Given the description of an element on the screen output the (x, y) to click on. 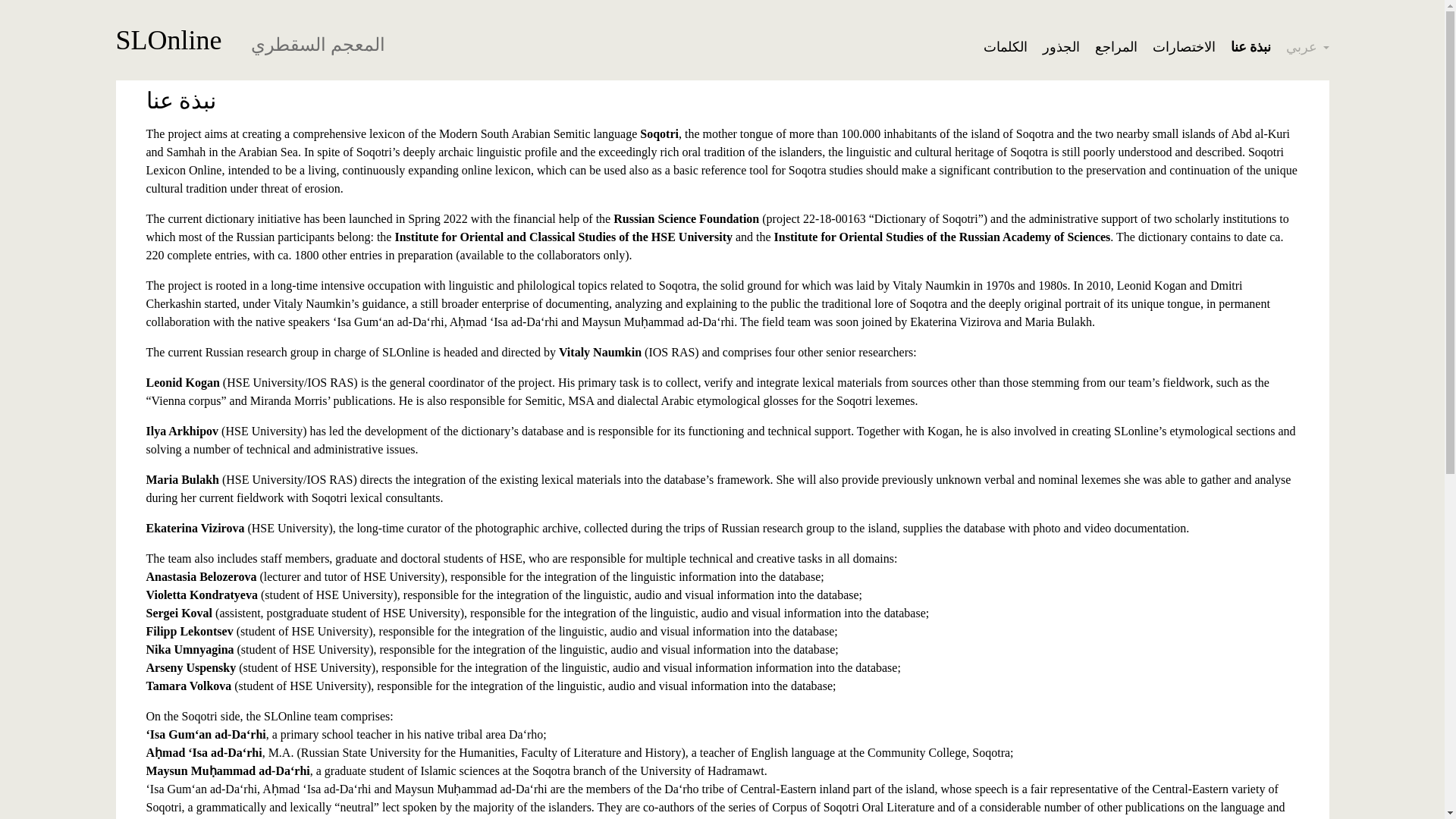
SLOnline (168, 40)
